Given the description of an element on the screen output the (x, y) to click on. 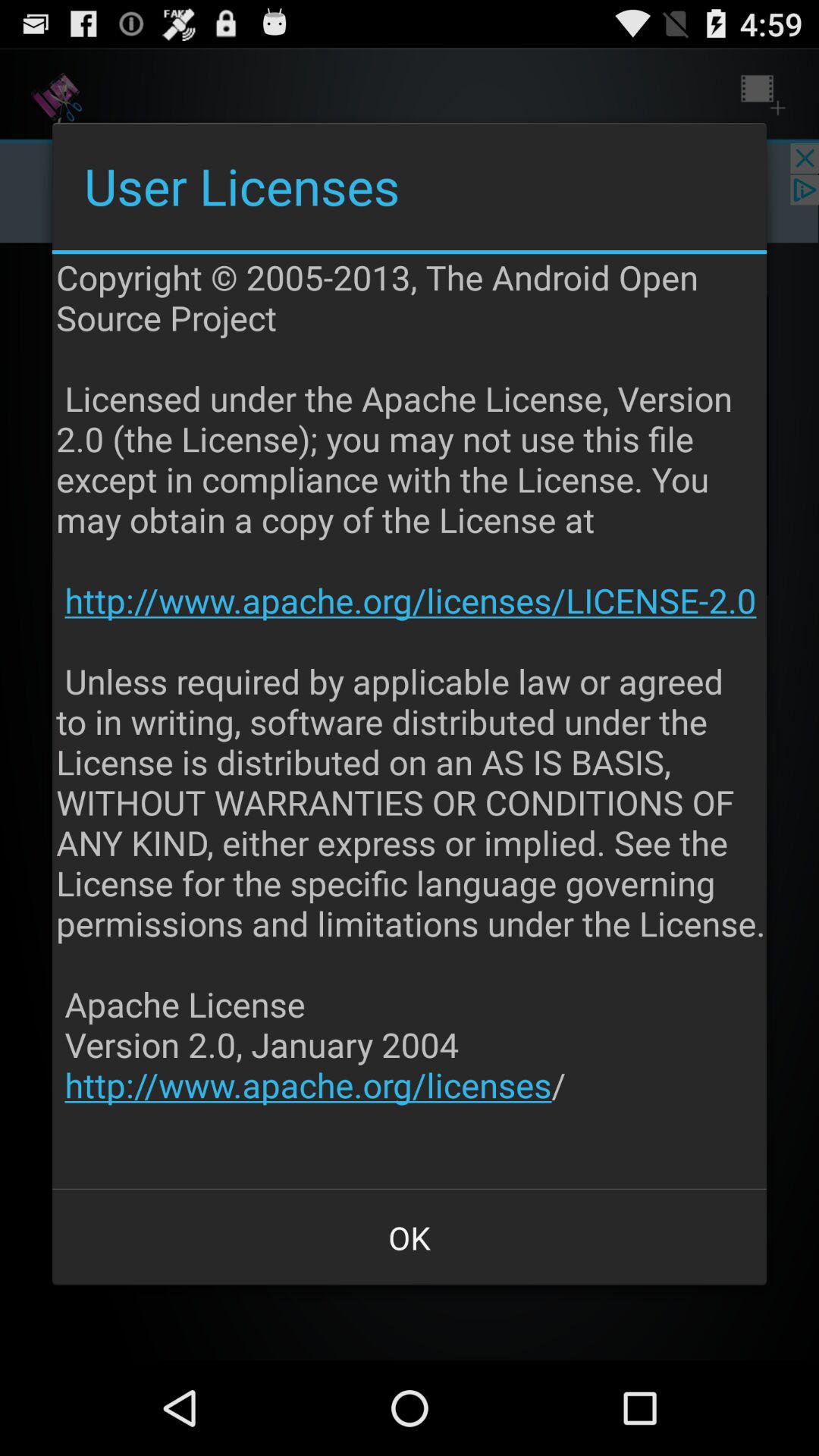
press item at the center (411, 721)
